Given the description of an element on the screen output the (x, y) to click on. 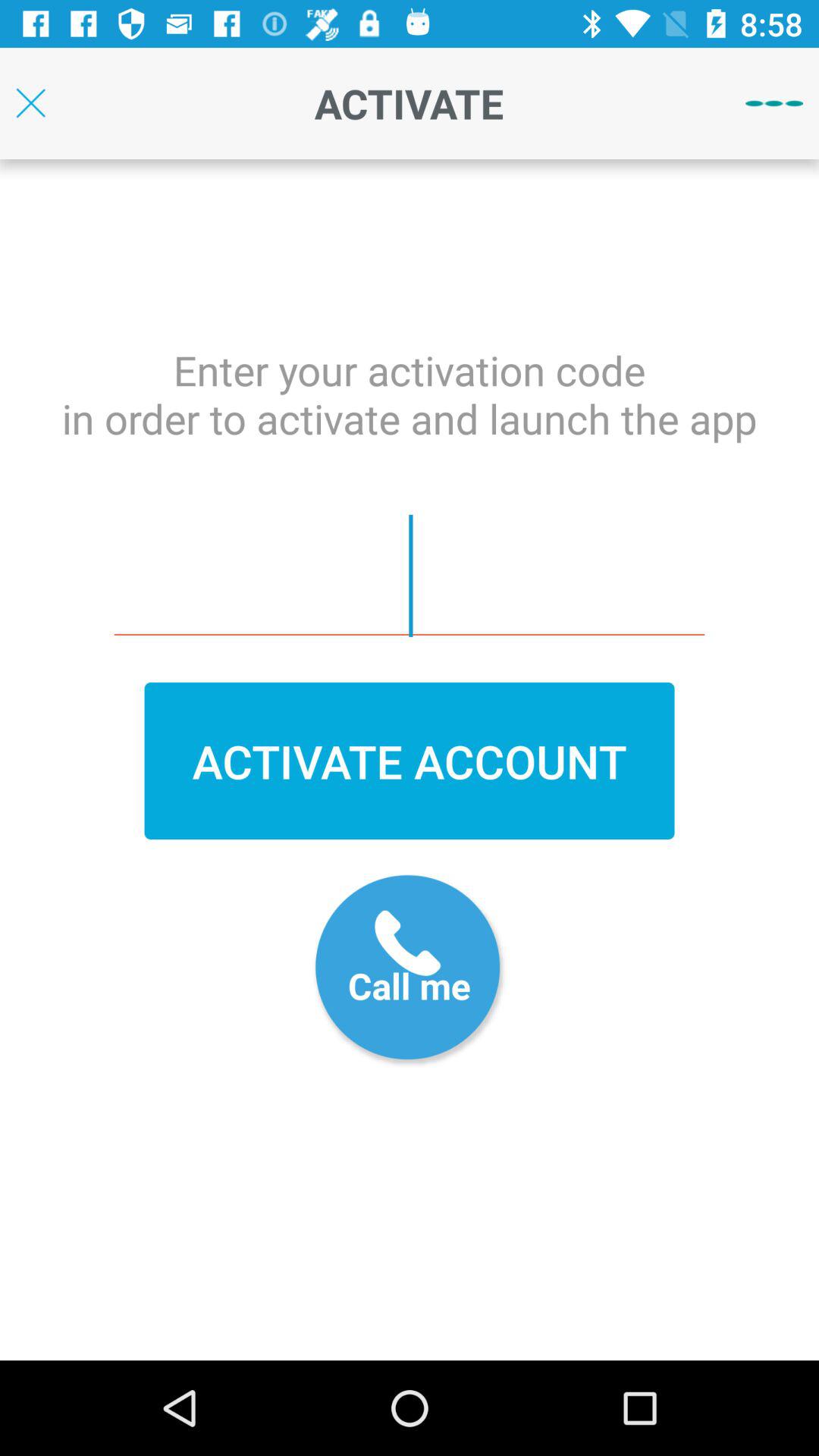
close page (30, 103)
